Given the description of an element on the screen output the (x, y) to click on. 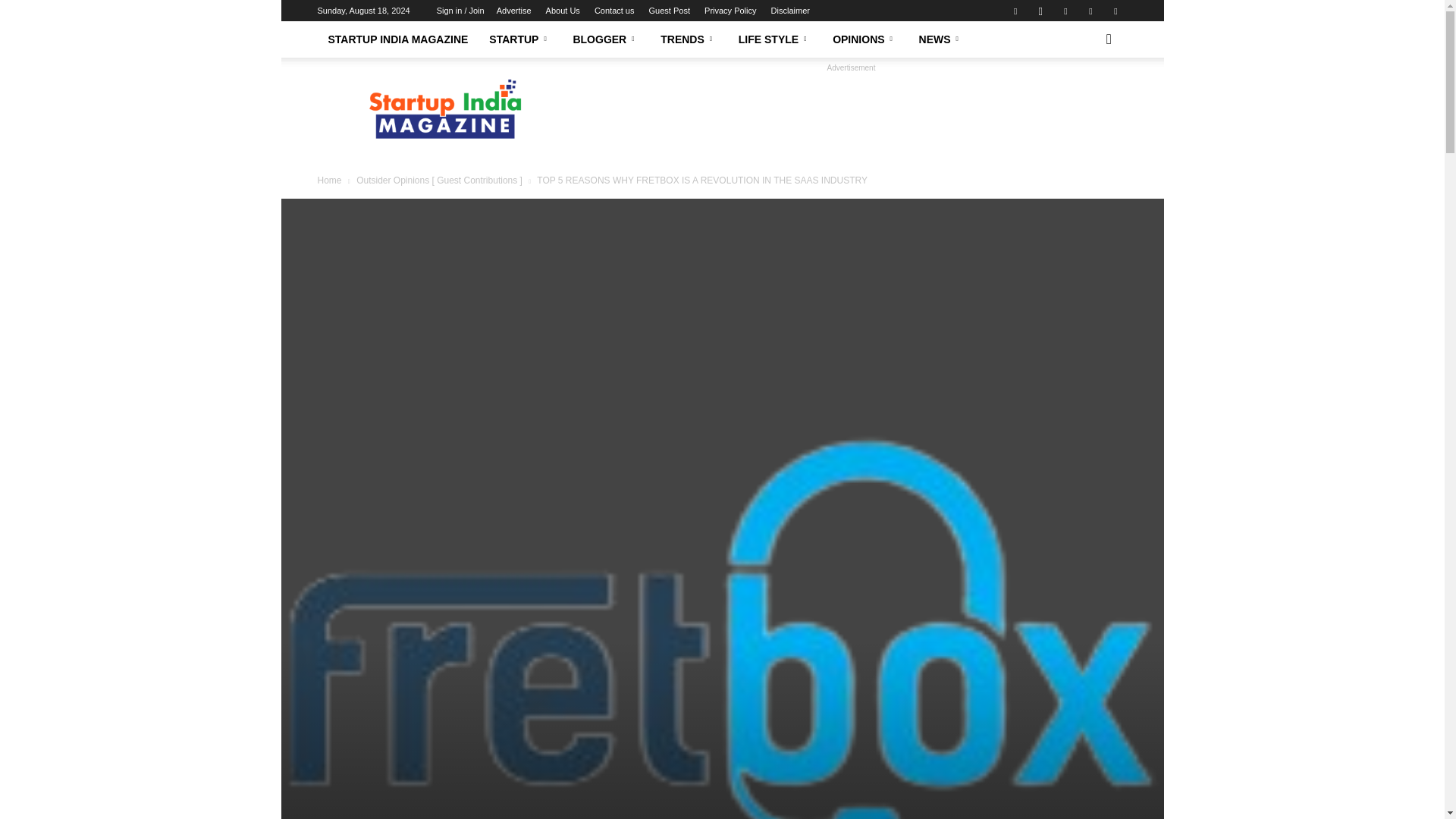
Tumblr (1090, 10)
Twitter (1114, 10)
Contact us (614, 10)
Advertise (513, 10)
STARTUP INDIA MAGAZINE (398, 39)
Reddit (1065, 10)
Instagram (1040, 10)
Disclaimer (790, 10)
Privacy Policy (729, 10)
About Us (562, 10)
